Given the description of an element on the screen output the (x, y) to click on. 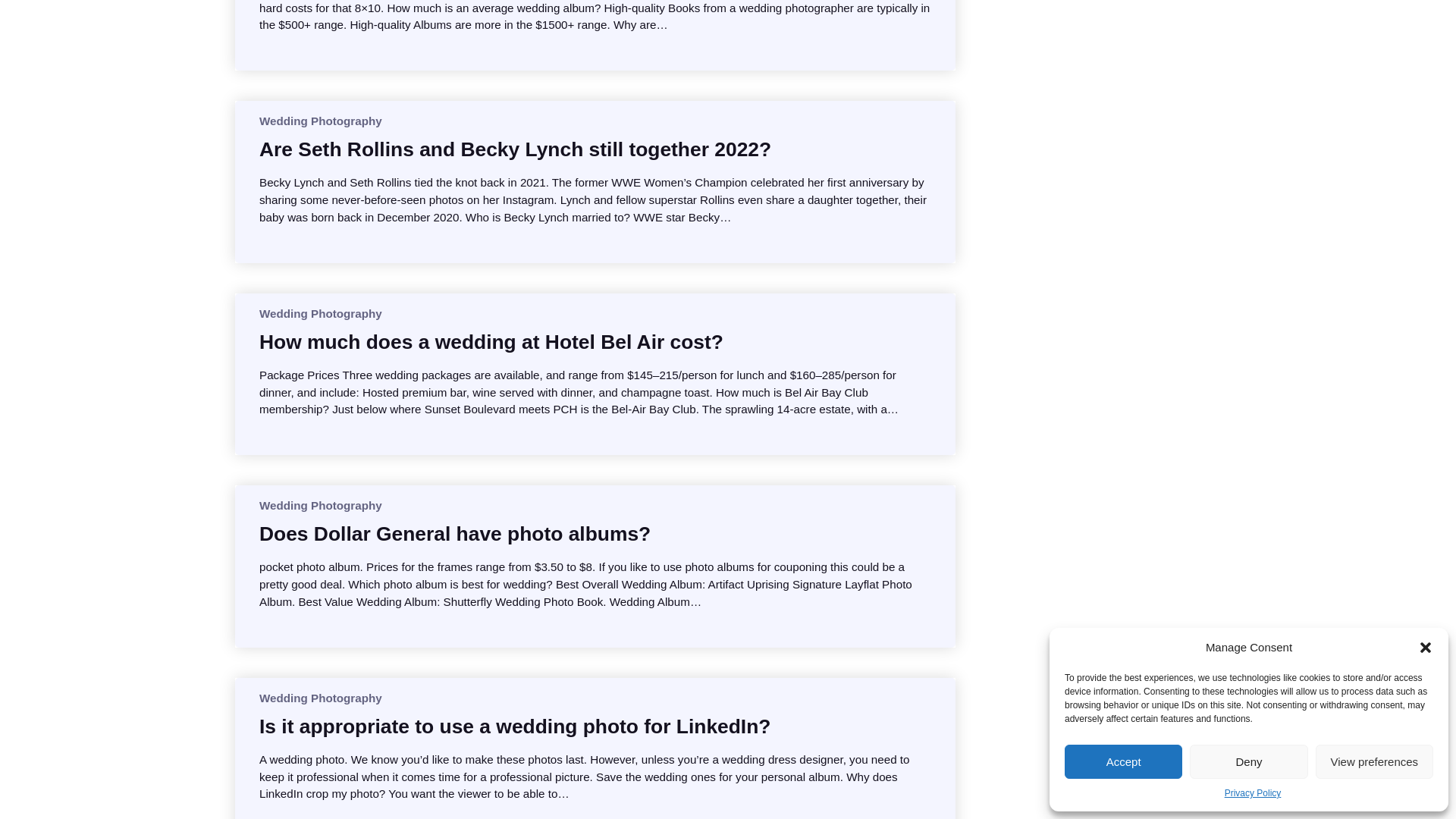
Wedding Photography (320, 697)
How much does a wedding at Hotel Bel Air cost? (491, 341)
Wedding Photography (320, 313)
Wedding Photography (320, 504)
Is it appropriate to use a wedding photo for LinkedIn? (514, 726)
Are Seth Rollins and Becky Lynch still together 2022? (515, 149)
Does Dollar General have photo albums? (454, 533)
Wedding Photography (320, 120)
